Given the description of an element on the screen output the (x, y) to click on. 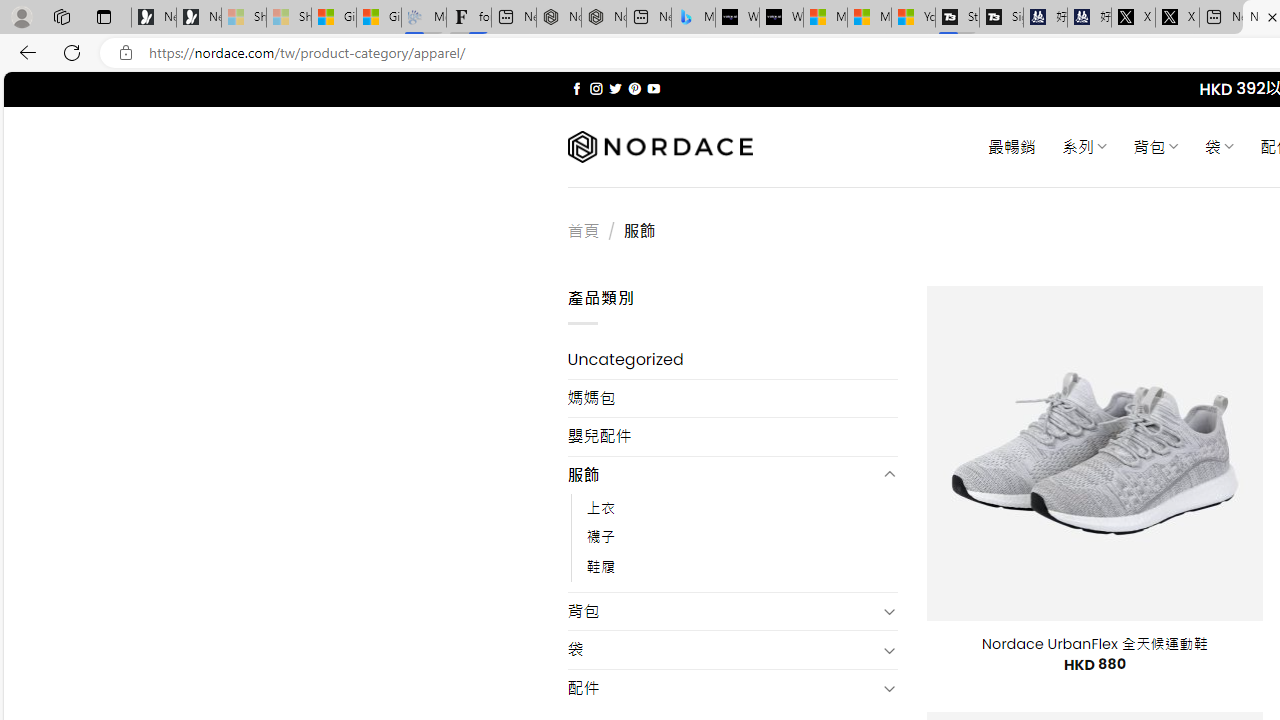
Uncategorized (732, 359)
